Given the description of an element on the screen output the (x, y) to click on. 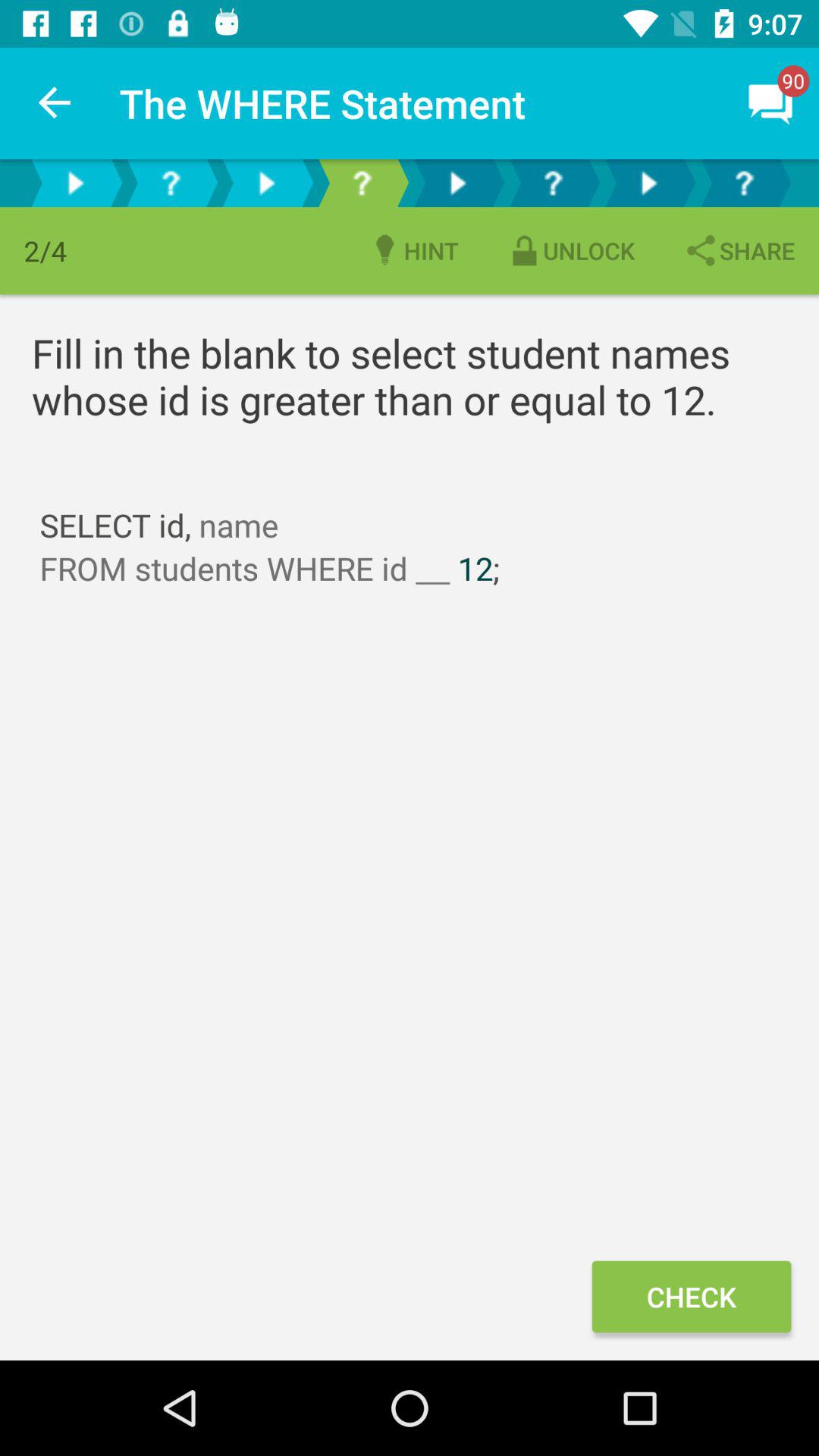
go to next page (265, 183)
